Given the description of an element on the screen output the (x, y) to click on. 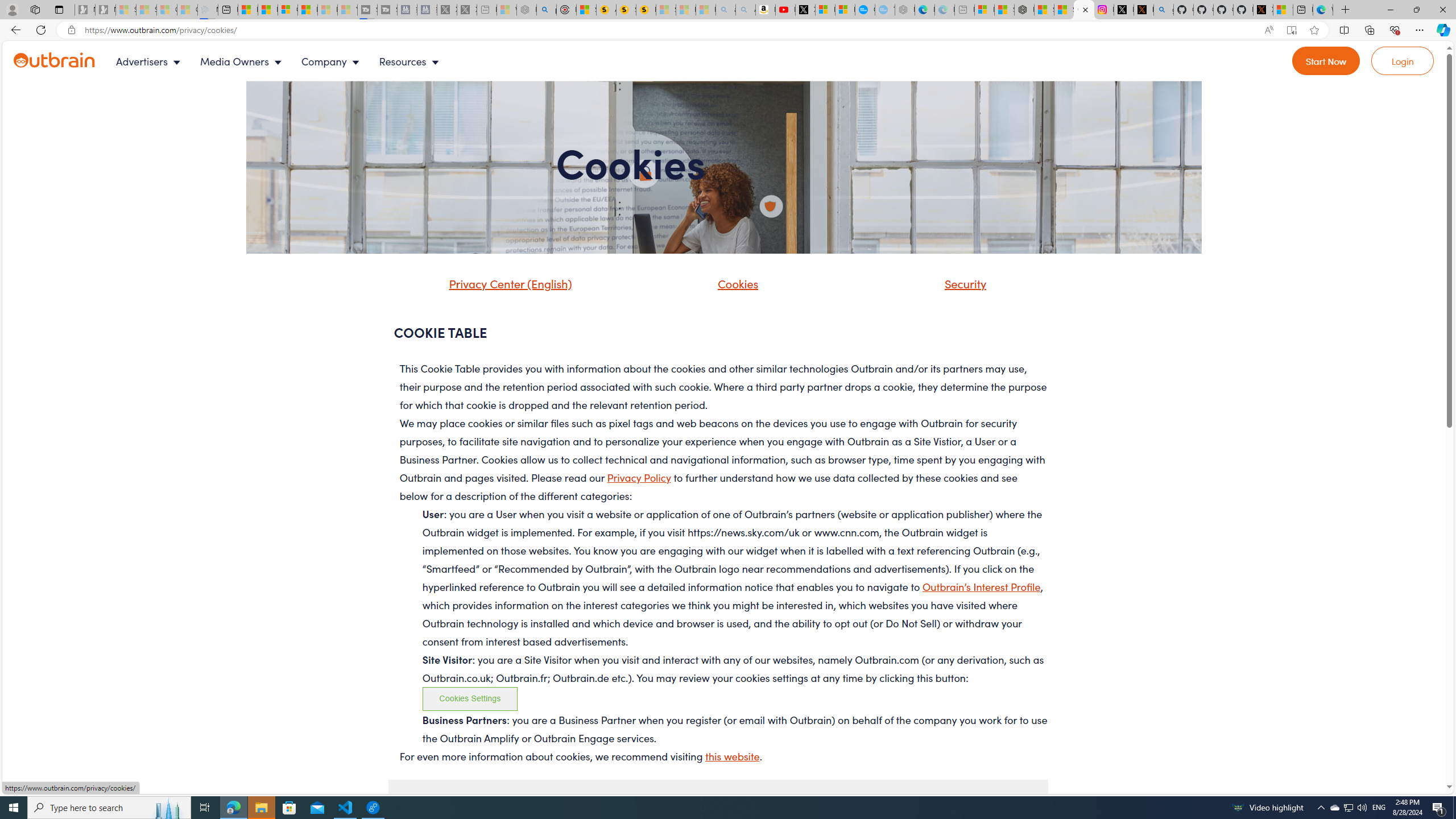
X Privacy Policy (1262, 9)
Microsoft account | Microsoft Account Privacy Settings (983, 9)
Privacy Center (English) (507, 282)
Nordace - Nordace has arrived Hong Kong - Sleeping (904, 9)
amazon - Search - Sleeping (725, 9)
The most popular Google 'how to' searches - Sleeping (884, 9)
Resources (411, 61)
Log in to X / X (1123, 9)
Nordace - Summer Adventures 2024 - Sleeping (526, 9)
Go to Register (1325, 60)
